Given the description of an element on the screen output the (x, y) to click on. 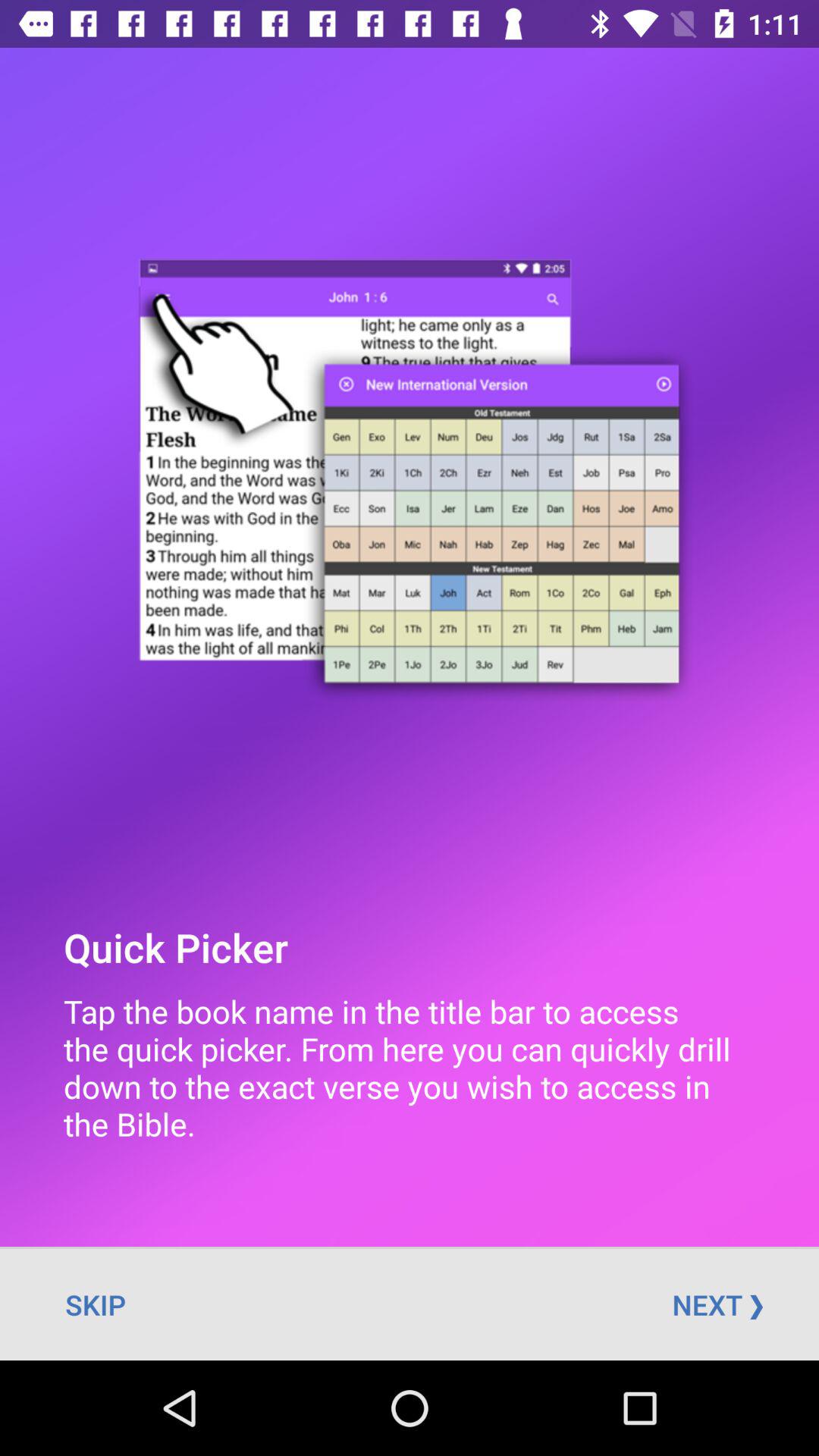
jump to the skip item (95, 1304)
